Given the description of an element on the screen output the (x, y) to click on. 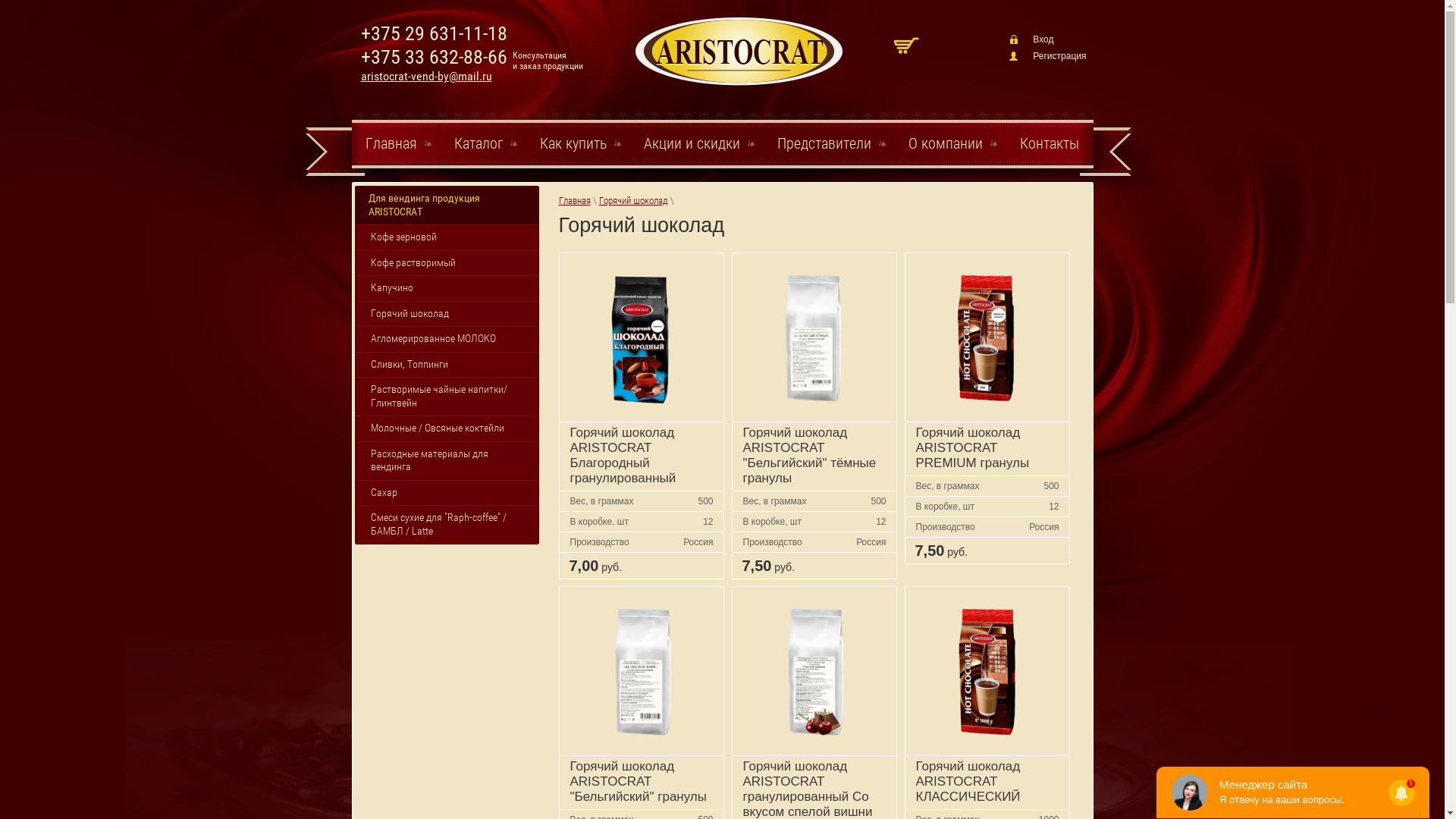
aristocrat-vend-by@mail.ru Element type: text (426, 76)
